Given the description of an element on the screen output the (x, y) to click on. 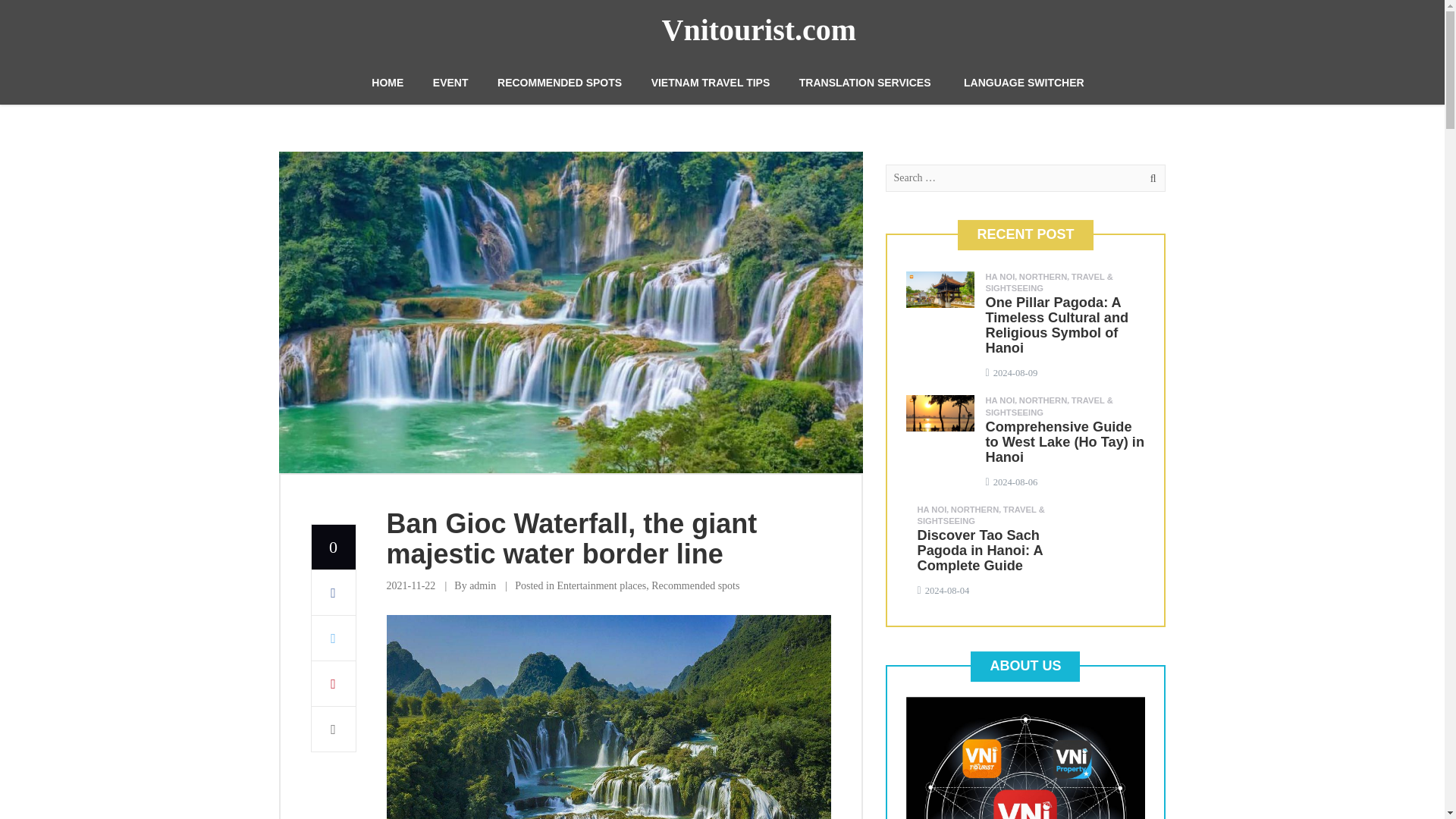
Vnitourist.com (758, 29)
Share linkedin (333, 729)
Share twitter (333, 637)
LANGUAGE SWITCHER (1023, 82)
Entertainment places (601, 585)
Share Facebook (333, 592)
RECOMMENDED SPOTS (559, 82)
Share pinterest (333, 683)
Recommended spots (694, 585)
admin (482, 585)
